Given the description of an element on the screen output the (x, y) to click on. 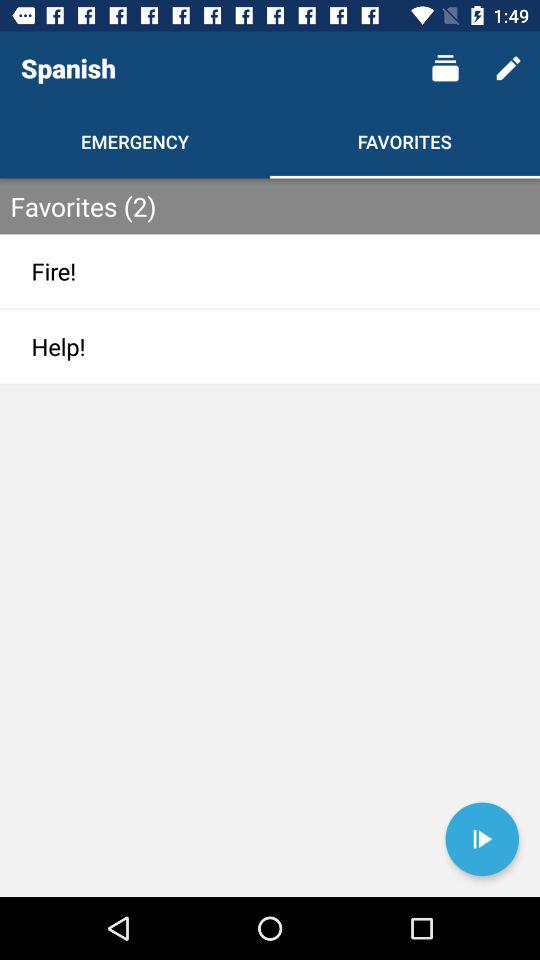
press item above the favorites item (444, 67)
